Given the description of an element on the screen output the (x, y) to click on. 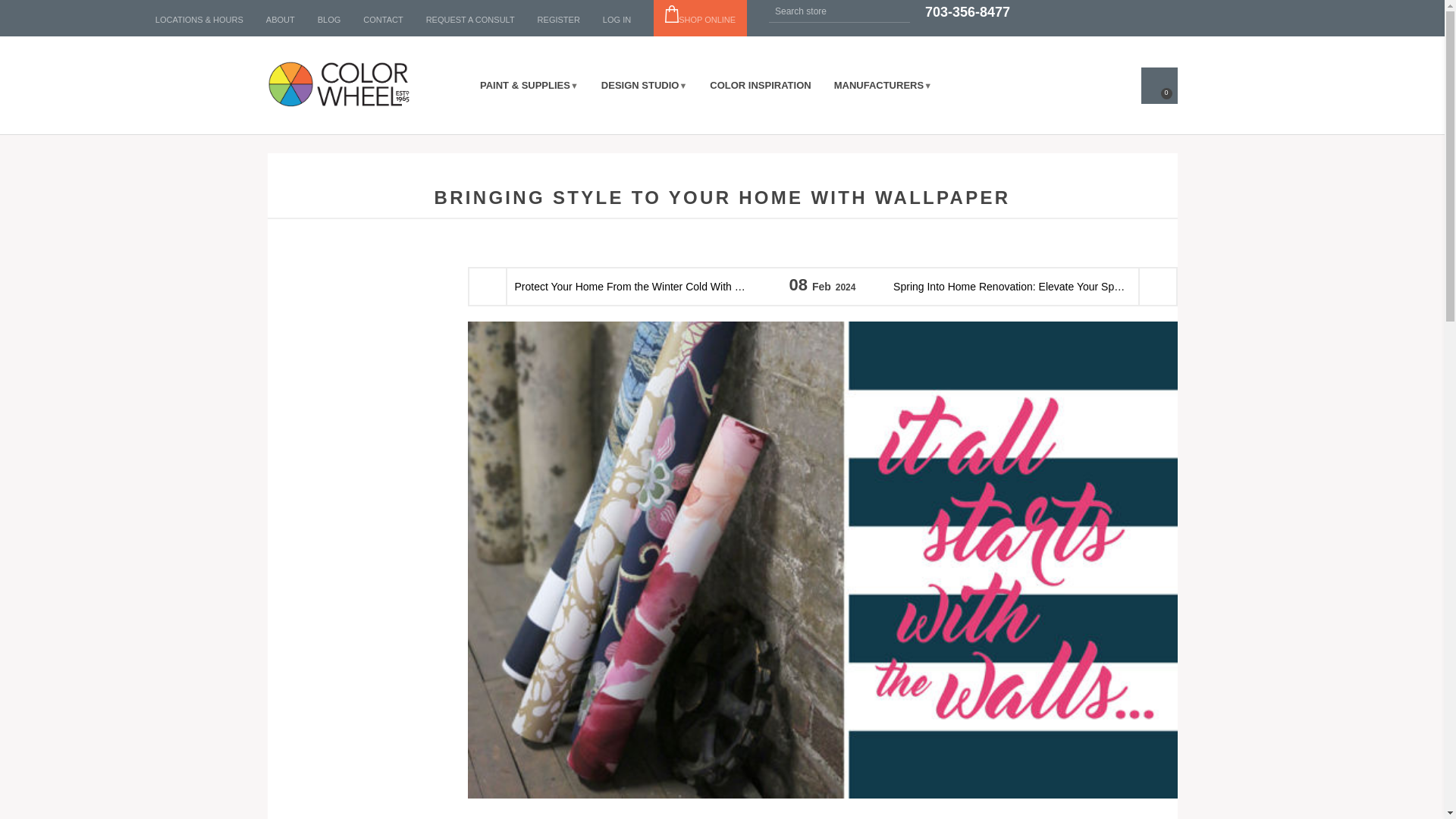
Search (898, 11)
REGISTER (558, 19)
CONTACT (382, 19)
LOG IN (616, 19)
Search (898, 11)
ABOUT (280, 19)
REQUEST A CONSULT (470, 19)
703-356-8477 (967, 11)
Search (898, 11)
BLOG (328, 19)
